Given the description of an element on the screen output the (x, y) to click on. 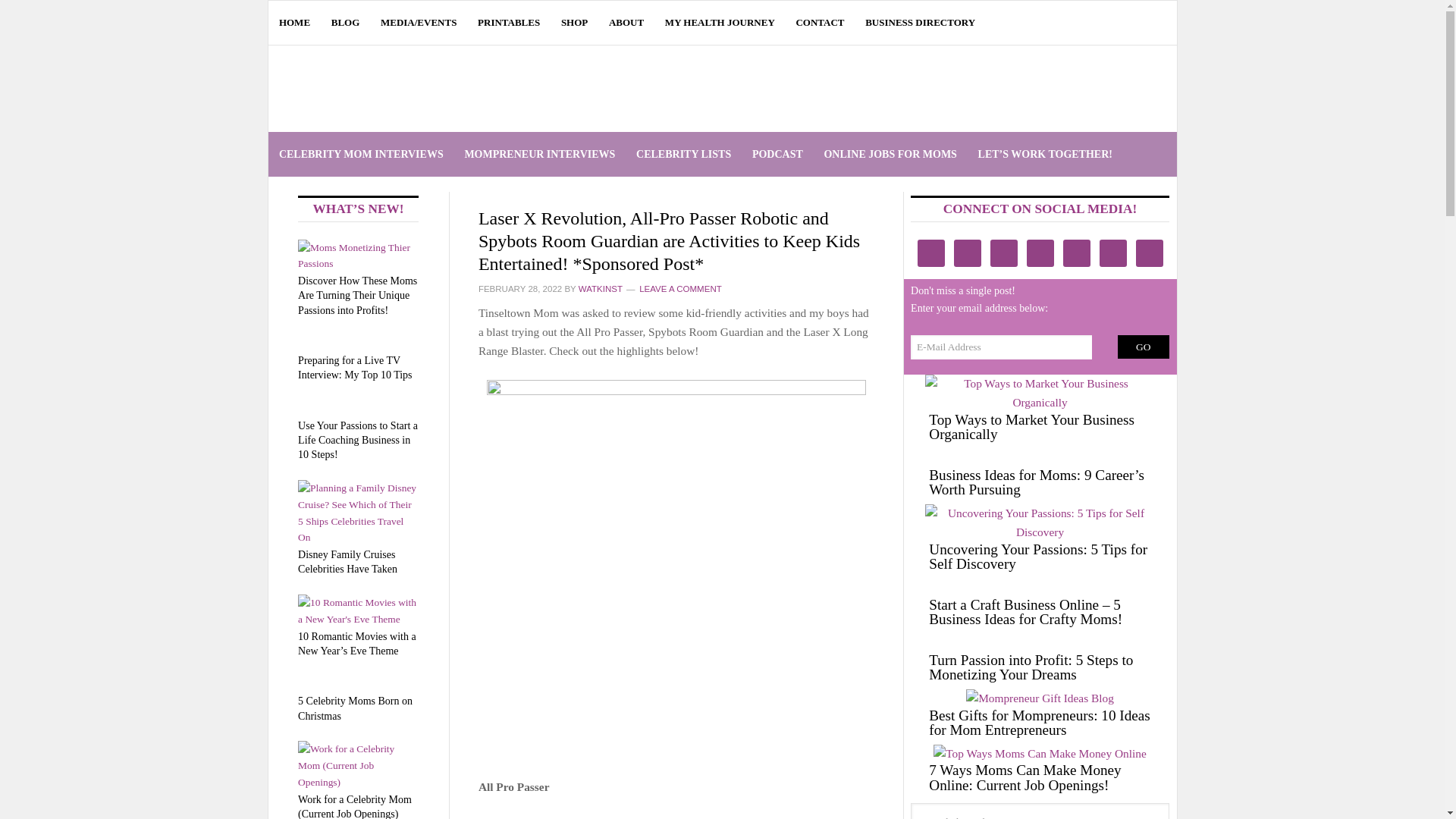
BUSINESS DIRECTORY (920, 22)
Go (1143, 346)
PRINTABLES (509, 22)
SHOP (574, 22)
HOME (294, 22)
BLOG (344, 22)
TINSELTOWN MOM (434, 88)
WATKINST (600, 288)
MOMPRENEUR INTERVIEWS (539, 153)
CELEBRITY MOM INTERVIEWS (360, 153)
LEAVE A COMMENT (680, 288)
MY HEALTH JOURNEY (719, 22)
Top Ways to Market Your Business Organically (1031, 426)
